Given the description of an element on the screen output the (x, y) to click on. 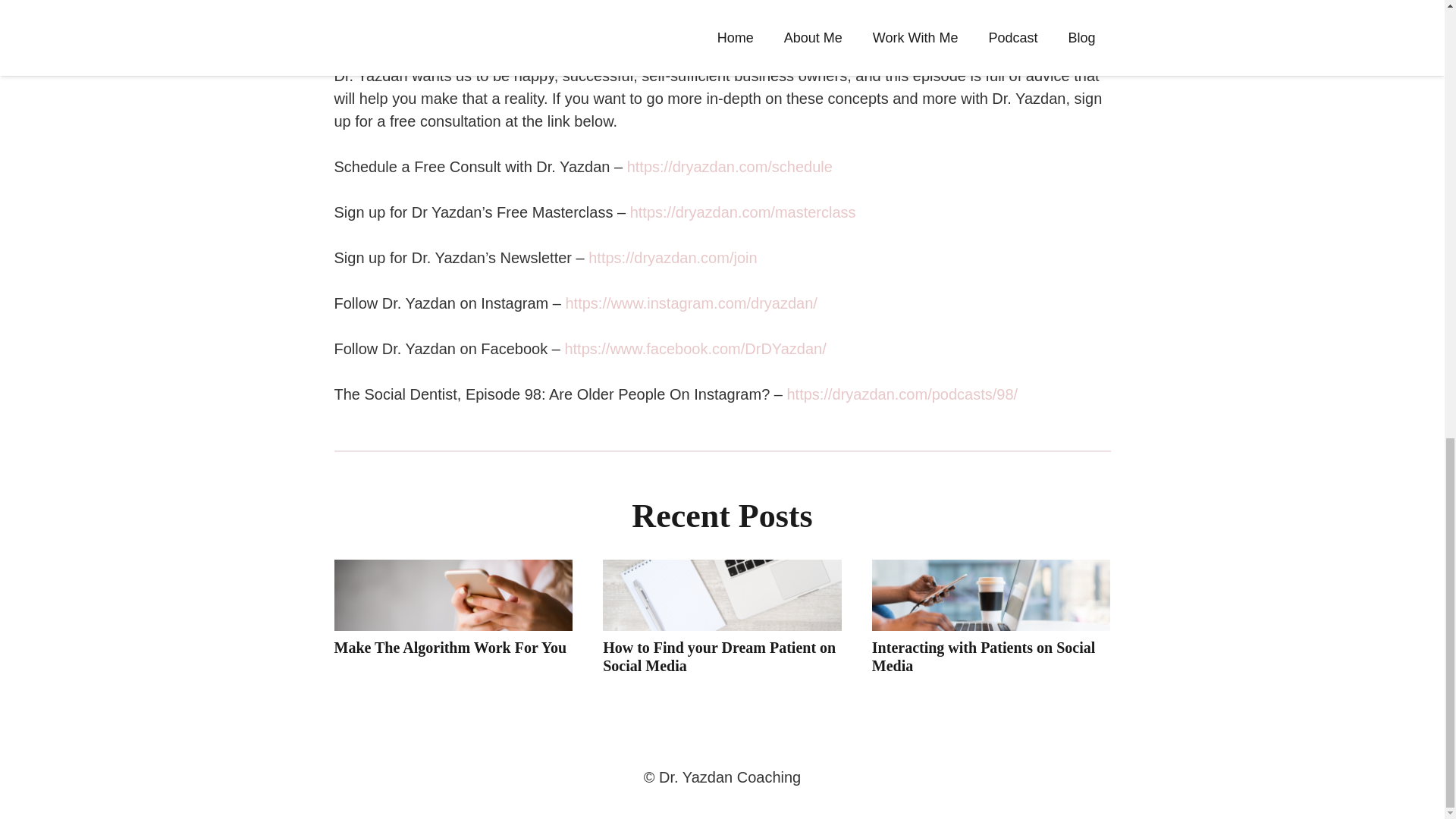
How to Find your Dream Patient on Social Media (718, 656)
Interacting with Patients on Social Media (983, 656)
Make The Algorithm Work For You (449, 647)
